Given the description of an element on the screen output the (x, y) to click on. 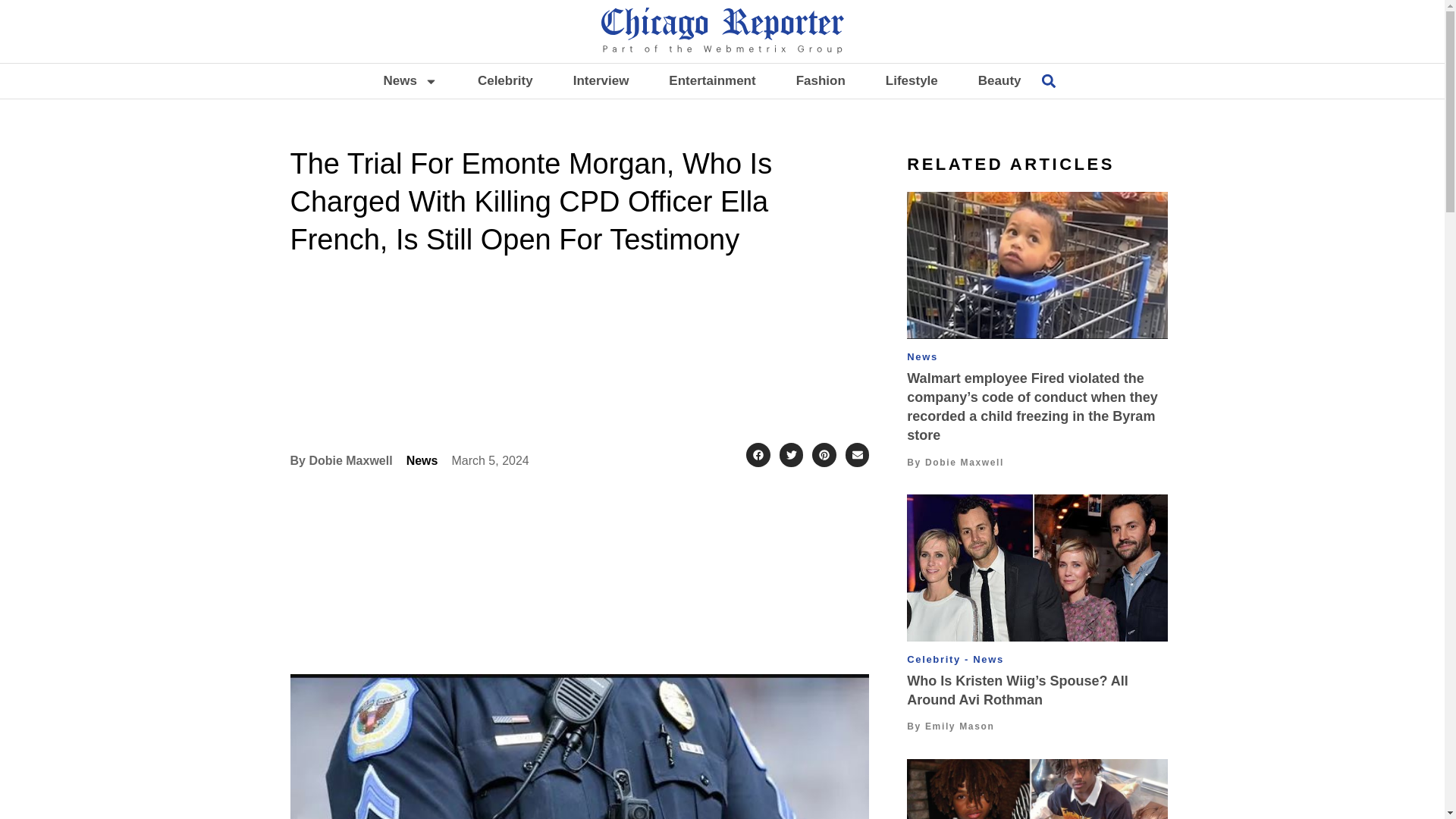
News (409, 80)
Interview (600, 80)
Lifestyle (911, 80)
Beauty (1000, 80)
Celebrity (504, 80)
Entertainment (711, 80)
Fashion (820, 80)
